Given the description of an element on the screen output the (x, y) to click on. 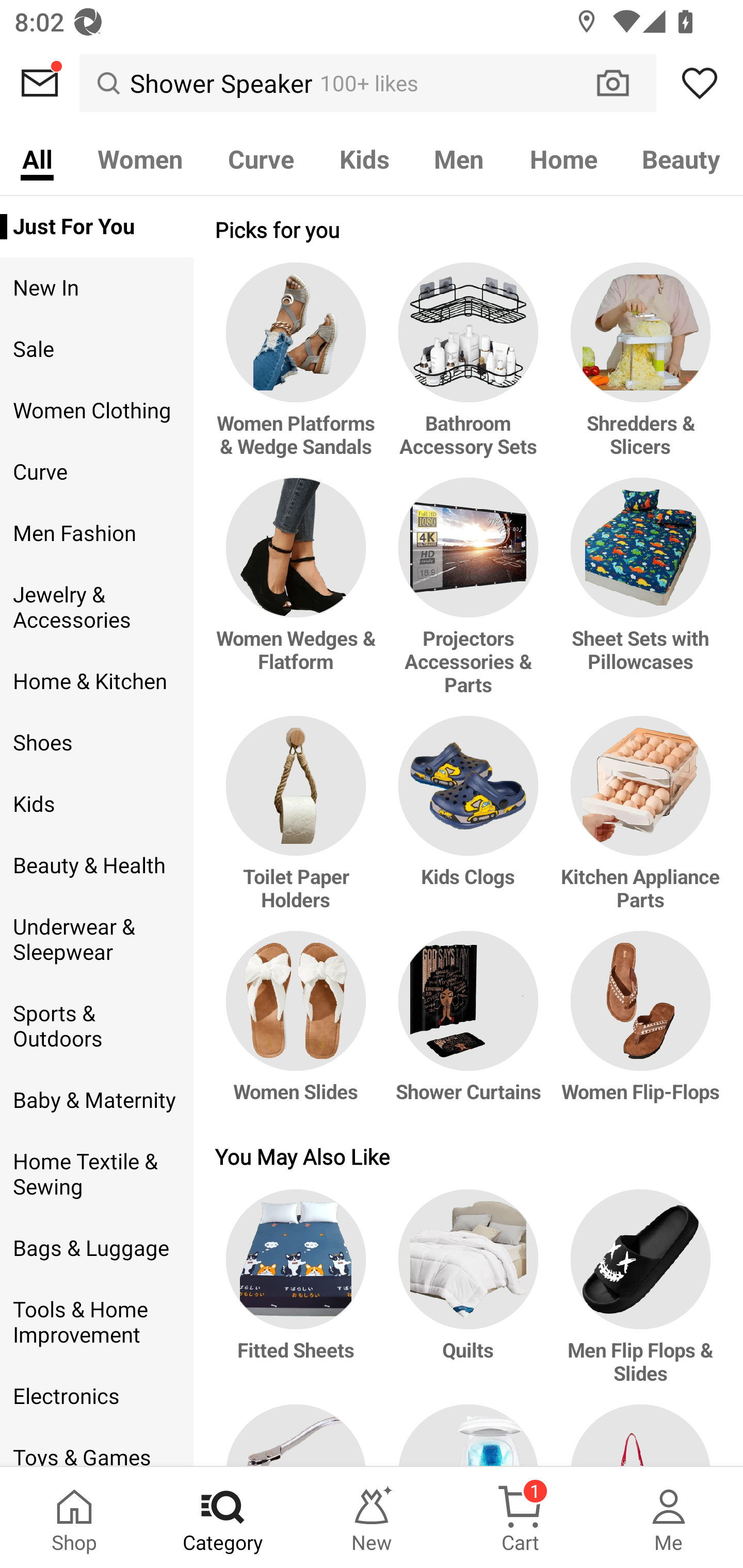
Wishlist (699, 82)
VISUAL SEARCH (623, 82)
All (37, 158)
Women (139, 158)
Curve (260, 158)
Kids (363, 158)
Men (458, 158)
Home (563, 158)
Beauty (681, 158)
Just For You (96, 226)
Picks for you (468, 228)
New In (96, 287)
Women Platforms & Wedge Sandals (299, 369)
Bathroom Accessory Sets (468, 369)
Shredders & Slicers (636, 369)
Sale (96, 348)
Women Clothing (96, 410)
Curve (96, 472)
Women Wedges & Flatform (299, 597)
Projectors Accessories & Parts (468, 597)
Sheet Sets with Pillowcases (636, 597)
Men Fashion (96, 533)
Jewelry & Accessories (96, 607)
Home & Kitchen (96, 680)
Shoes (96, 742)
Toilet Paper Holders (299, 823)
Kids Clogs (468, 823)
Kitchen Appliance Parts (636, 823)
Kids (96, 804)
Beauty & Health (96, 865)
Underwear & Sleepwear (96, 939)
Women Slides (299, 1026)
Shower Curtains (468, 1026)
Women Flip-Flops (636, 1026)
Sports & Outdoors (96, 1026)
Baby & Maternity (96, 1099)
You May Also Like (468, 1156)
Home Textile & Sewing (96, 1174)
Fitted Sheets (299, 1297)
Quilts (468, 1297)
Men Flip Flops & Slides (636, 1297)
Bags & Luggage (96, 1248)
Tools & Home Improvement (96, 1322)
Electronics (96, 1395)
Toys & Games (96, 1446)
Shop (74, 1517)
New (371, 1517)
Cart 1 Cart (519, 1517)
Me (668, 1517)
